Given the description of an element on the screen output the (x, y) to click on. 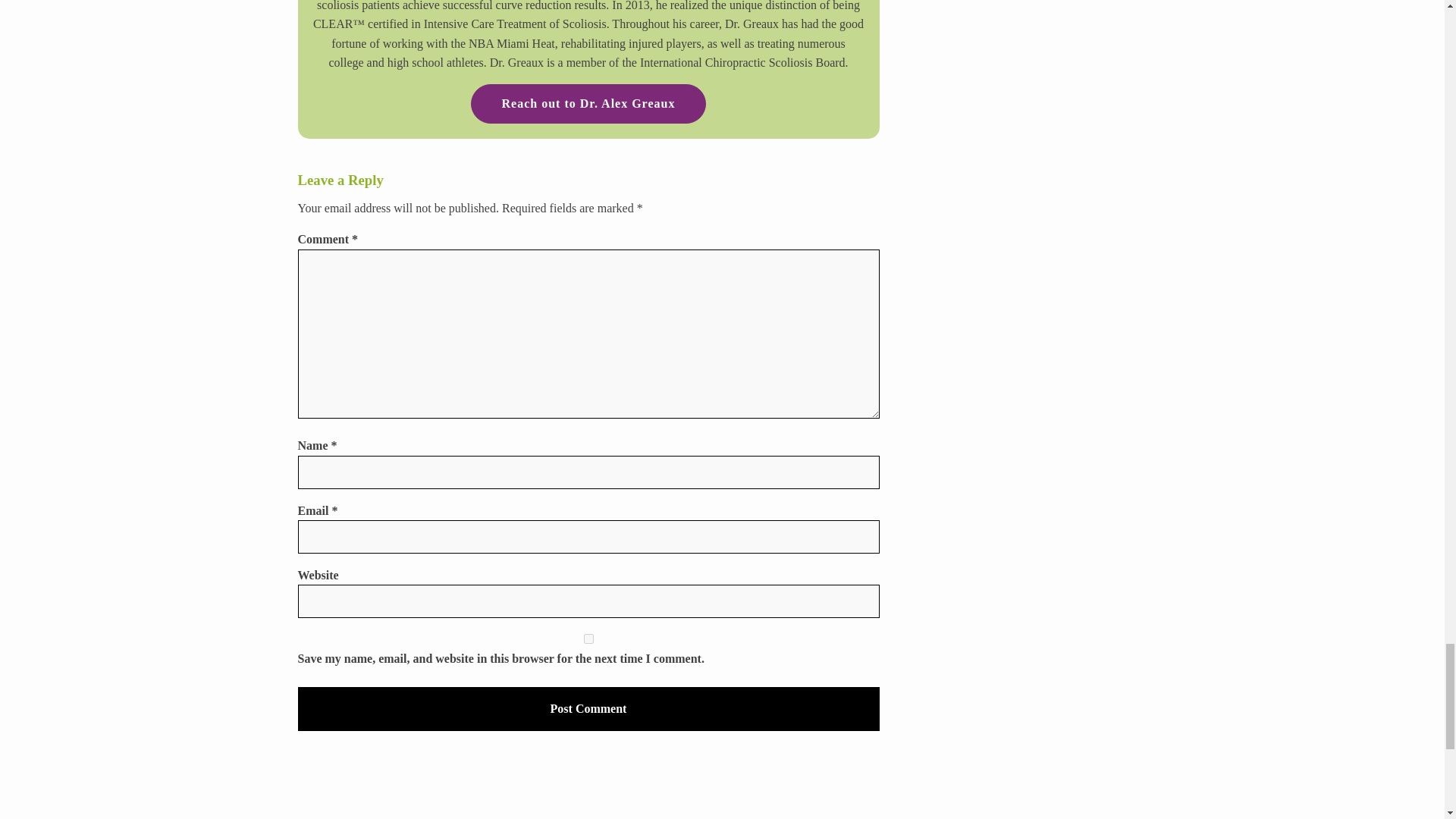
Post Comment (588, 709)
yes (588, 638)
